Given the description of an element on the screen output the (x, y) to click on. 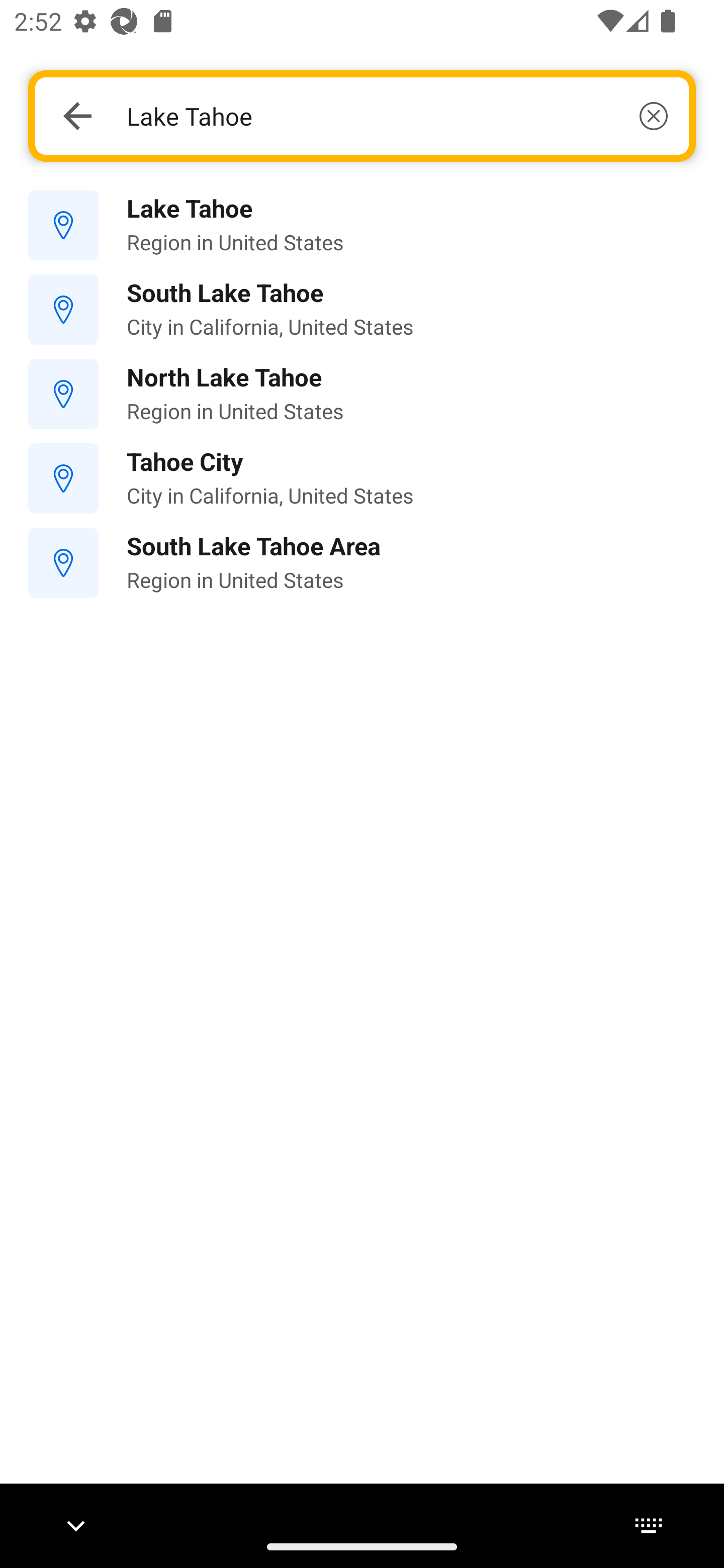
Lake Tahoe (396, 115)
Lake Tahoe Region in United States (362, 225)
South Lake Tahoe City in California, United States (362, 309)
North Lake Tahoe Region in United States (362, 393)
Tahoe City City in California, United States (362, 477)
South Lake Tahoe Area Region in United States (362, 562)
